Given the description of an element on the screen output the (x, y) to click on. 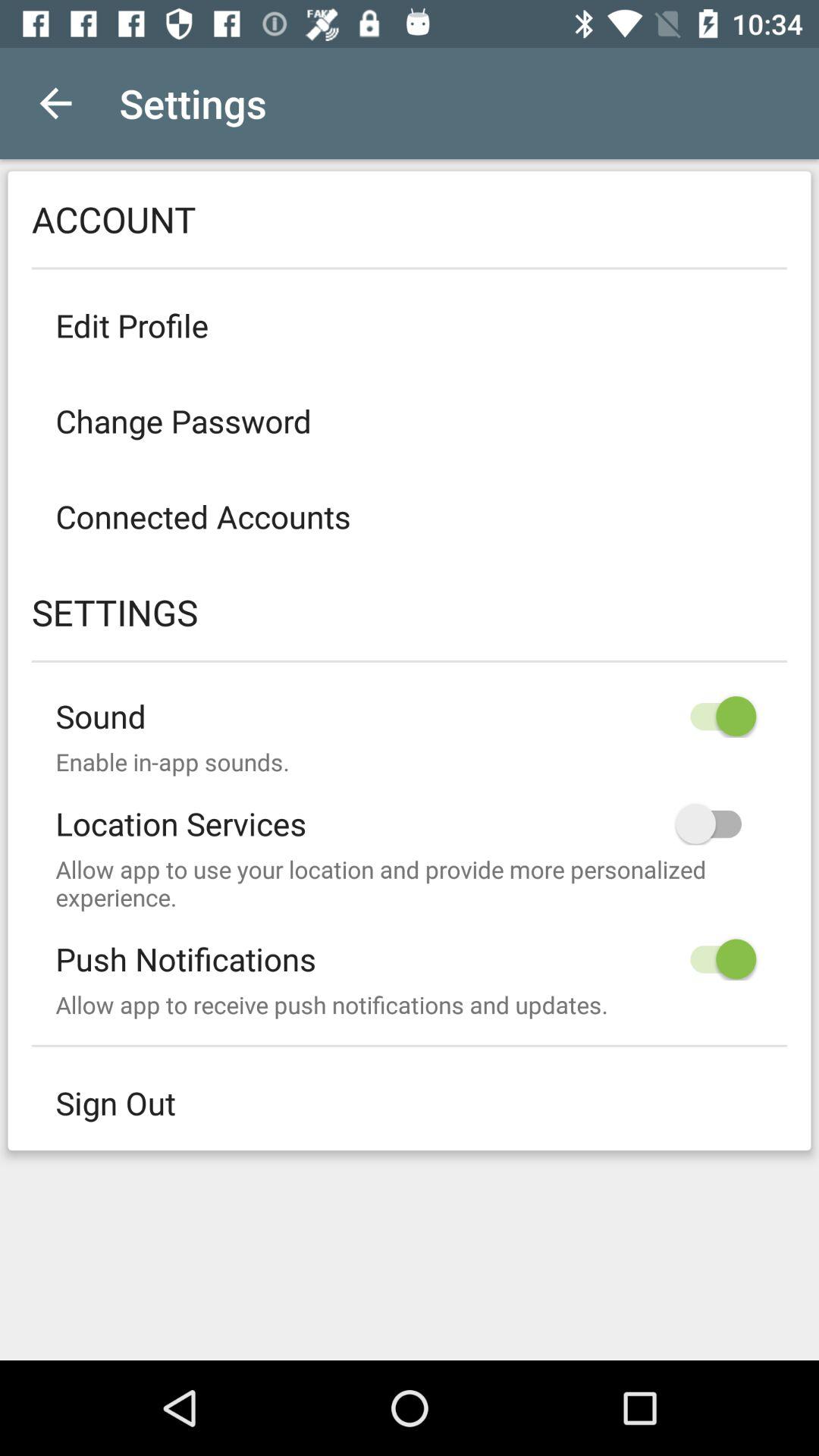
flip to sound icon (409, 703)
